Given the description of an element on the screen output the (x, y) to click on. 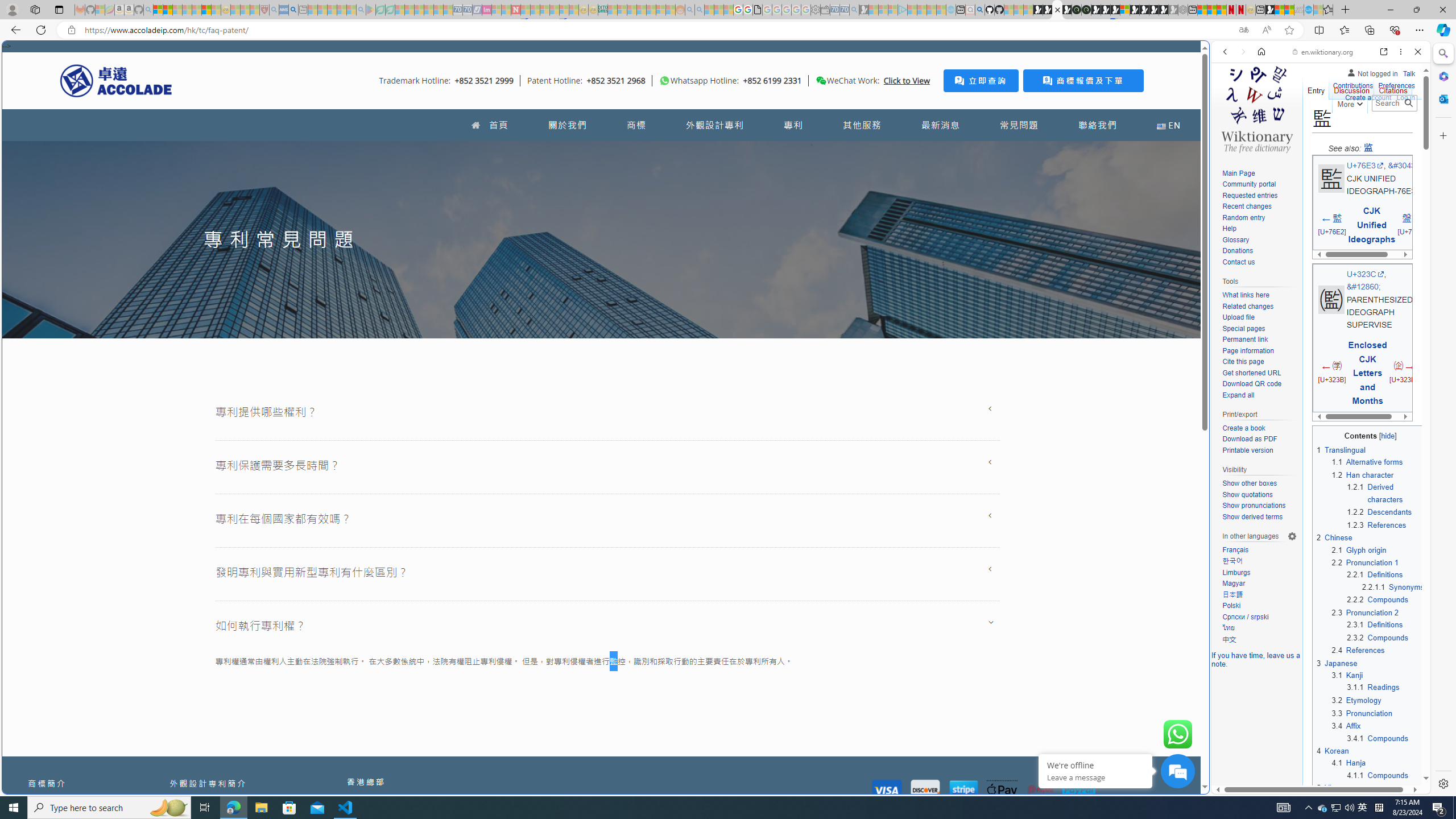
Entry (1316, 87)
What links here (1259, 295)
2.4References (1377, 650)
Show pronunciations (1253, 505)
2.2.2 Compounds (1377, 599)
